Given the description of an element on the screen output the (x, y) to click on. 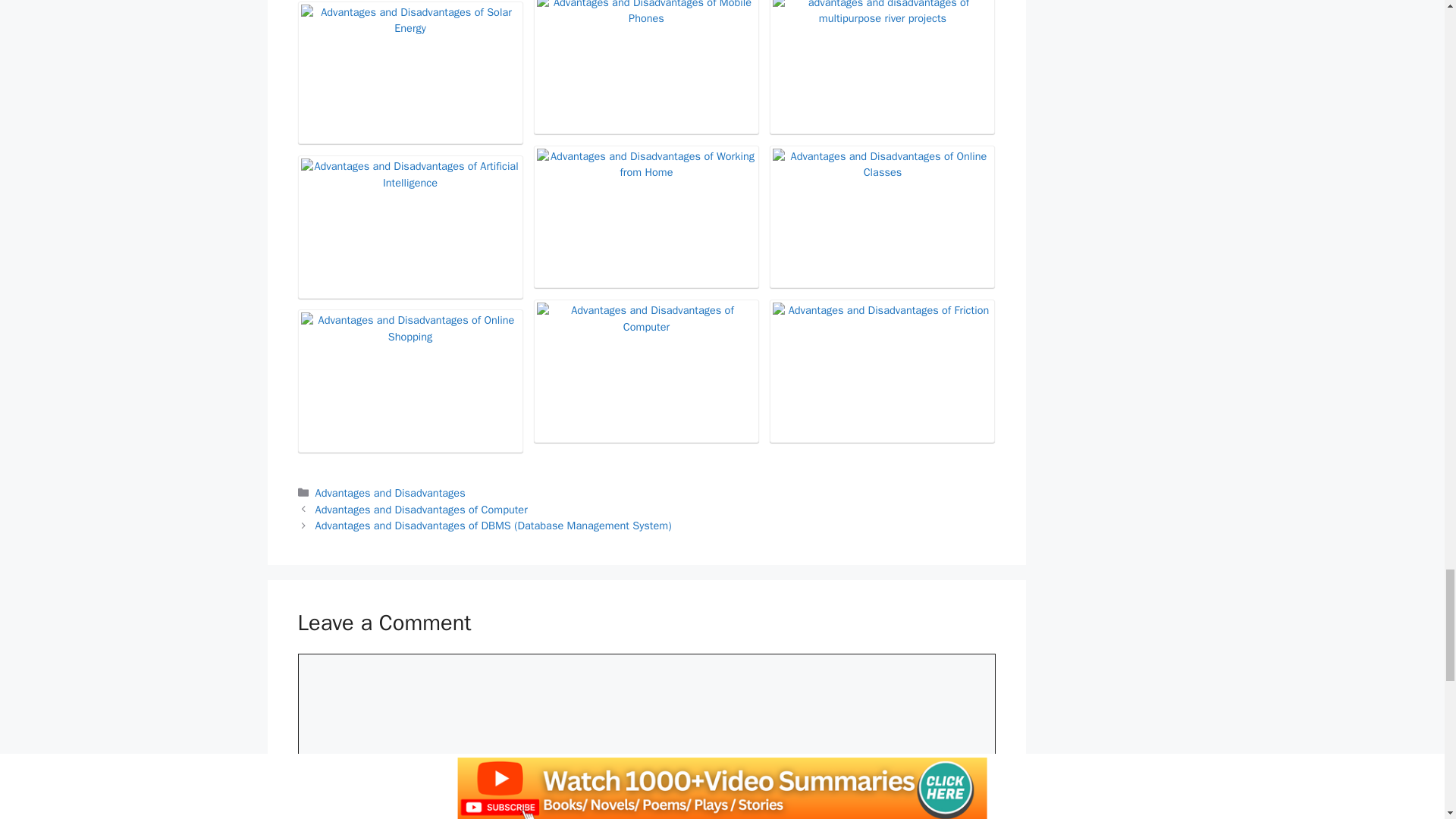
Advantages and Disadvantages of Mobile Phones (646, 65)
Advantages and Disadvantages of Computer (646, 370)
Advantages and Disadvantages of Artificial Intelligence (409, 226)
Advantages and Disadvantages of Working from Home (646, 216)
Advantages and Disadvantages of Online Shopping (409, 380)
Solar Energy-Advantages and Disadvantages (409, 72)
